Given the description of an element on the screen output the (x, y) to click on. 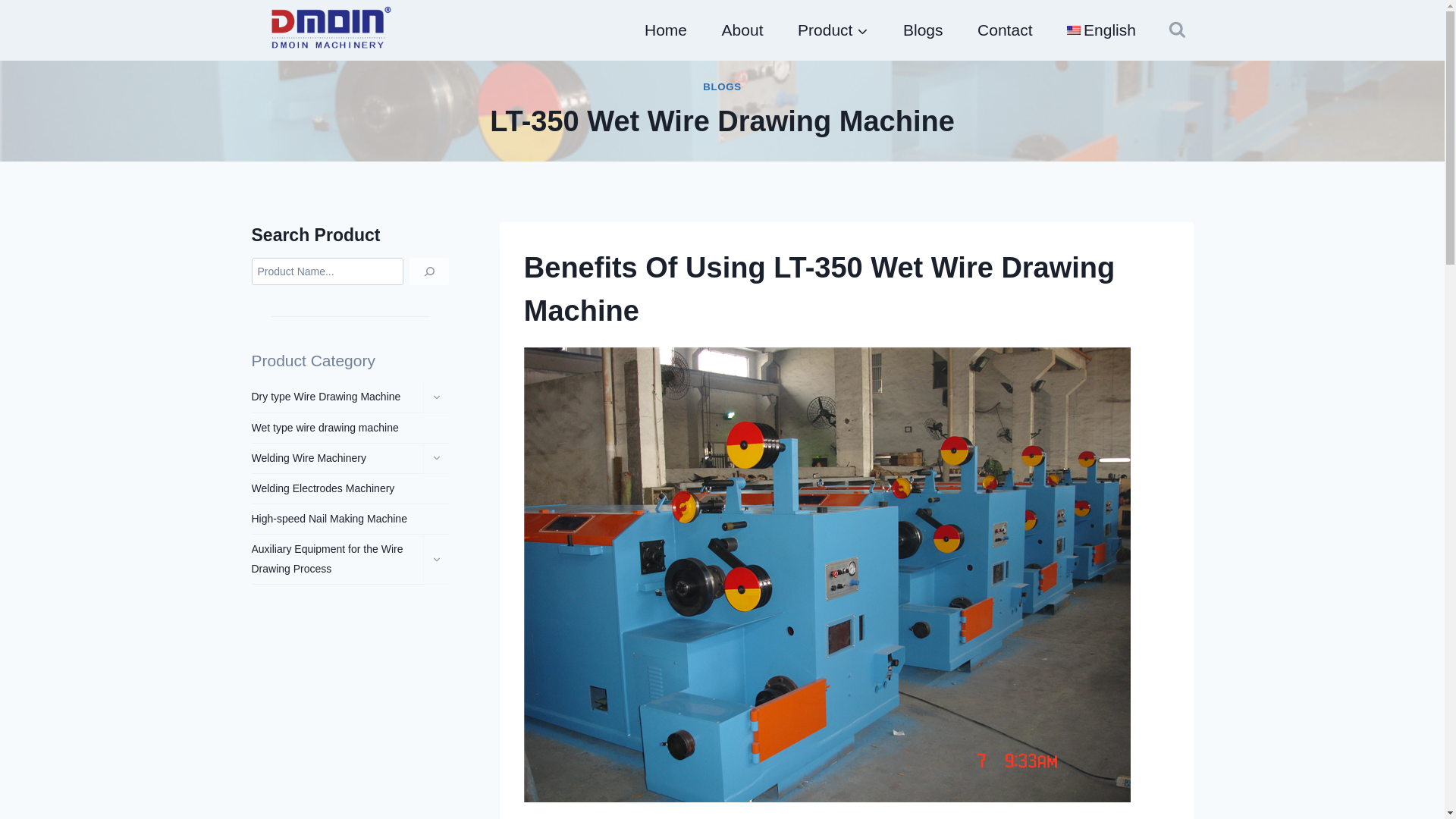
English (1101, 30)
Blogs (922, 30)
Wet Wire Drawing Machine (819, 288)
Home (665, 30)
About (742, 30)
Product (832, 30)
BLOGS (722, 86)
Contact (1004, 30)
